Given the description of an element on the screen output the (x, y) to click on. 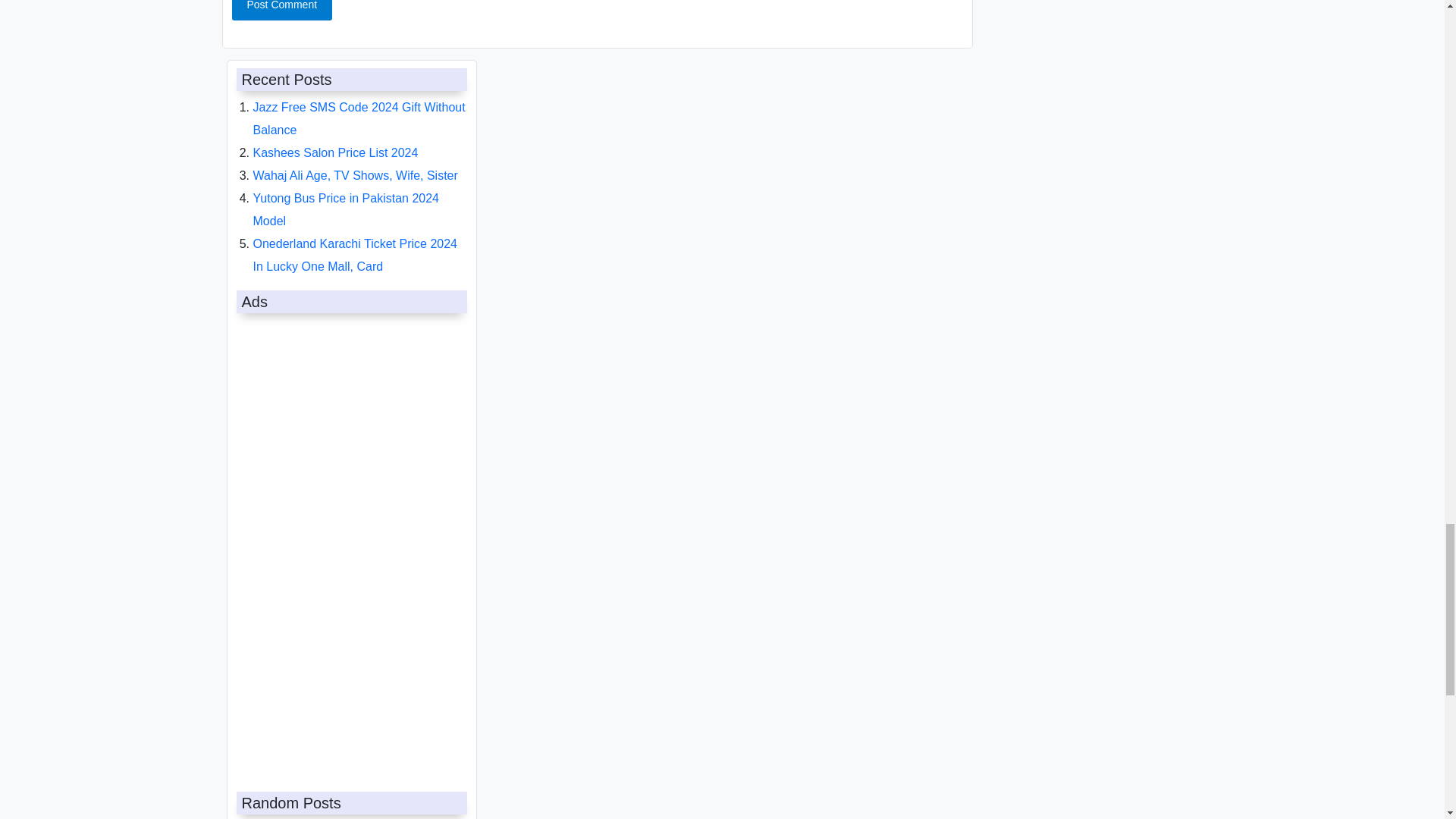
Onederland Karachi Ticket Price 2024 In Lucky One Mall, Card (355, 254)
Yutong Bus Price in Pakistan 2024 Model (346, 209)
Kashees Salon Price List 2024 (336, 152)
Post Comment (282, 10)
Wahaj Ali Age, TV Shows, Wife, Sister (355, 174)
Post Comment (282, 10)
Jazz Free SMS Code 2024 Gift Without Balance (359, 118)
